Given the description of an element on the screen output the (x, y) to click on. 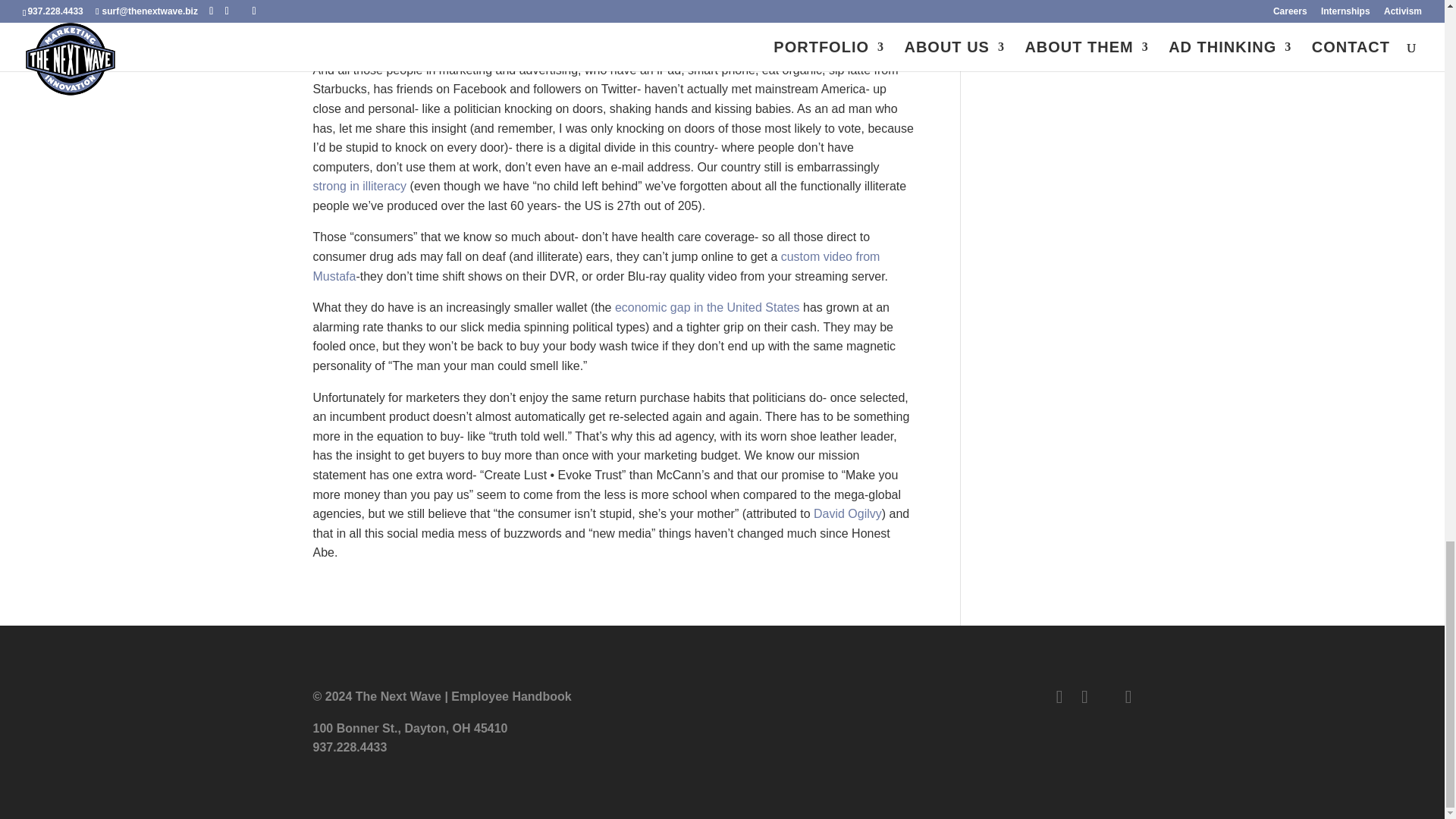
link to inequality blog (705, 307)
link to literacy rates (359, 185)
link to David Ogilvy on wikipedia (847, 513)
link to Custom video campaign (596, 266)
